Given the description of an element on the screen output the (x, y) to click on. 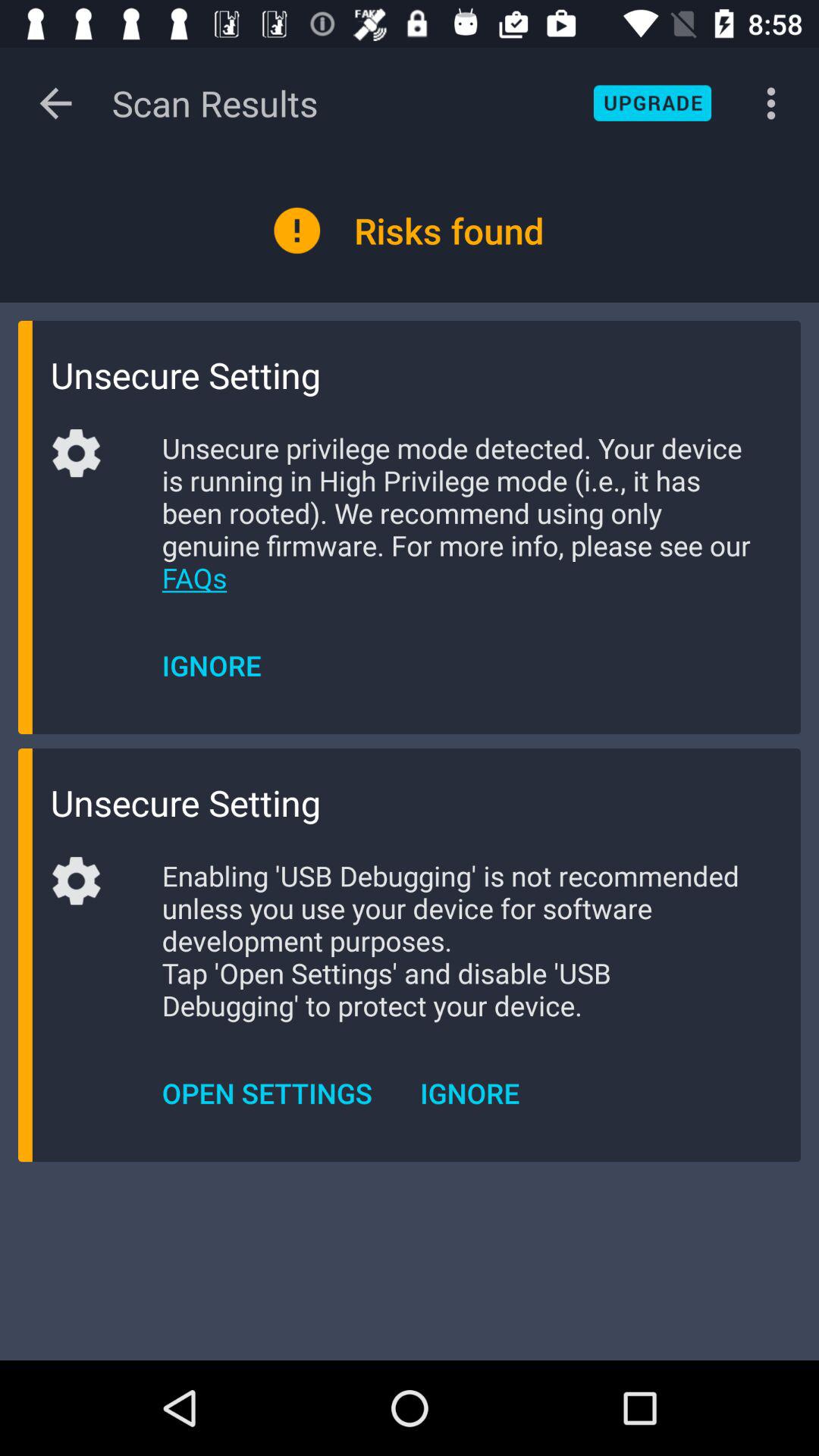
upgrade application button (652, 103)
